Given the description of an element on the screen output the (x, y) to click on. 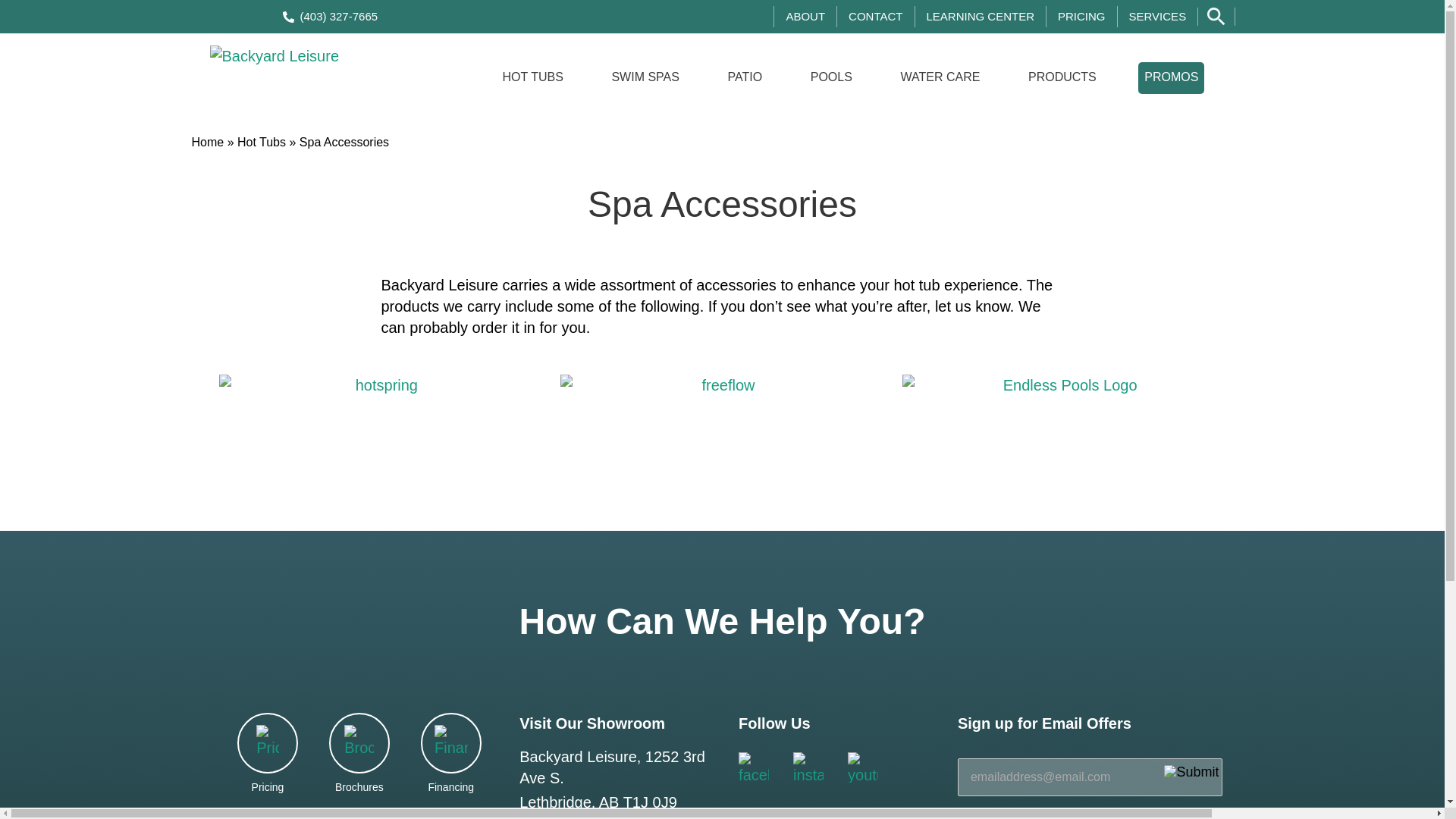
PRICING (1081, 15)
SERVICES (1157, 15)
LEARNING CENTER (980, 15)
ABOUT (805, 15)
CONTACT (875, 15)
HOT TUBS (532, 78)
